Given the description of an element on the screen output the (x, y) to click on. 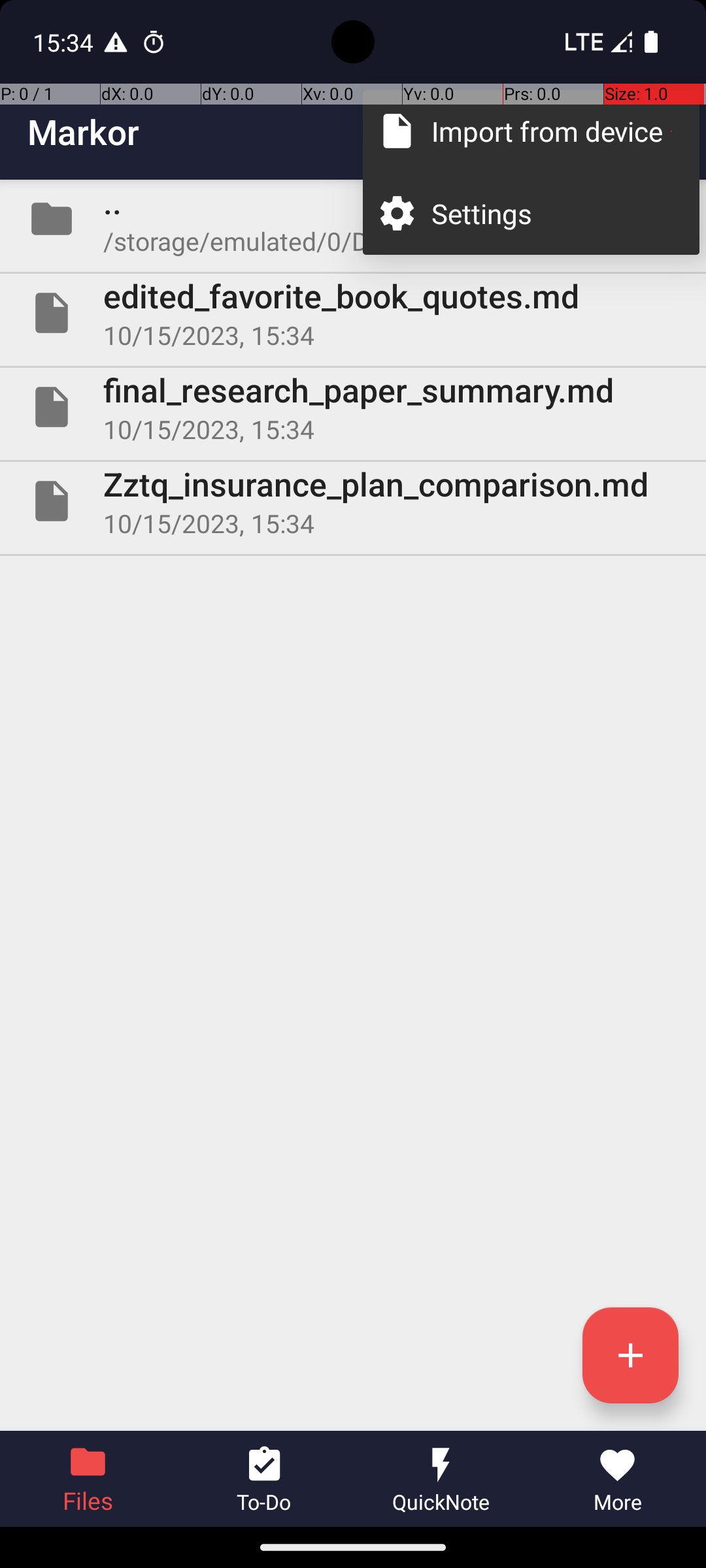
Import from device Element type: android.widget.TextView (551, 130)
